Given the description of an element on the screen output the (x, y) to click on. 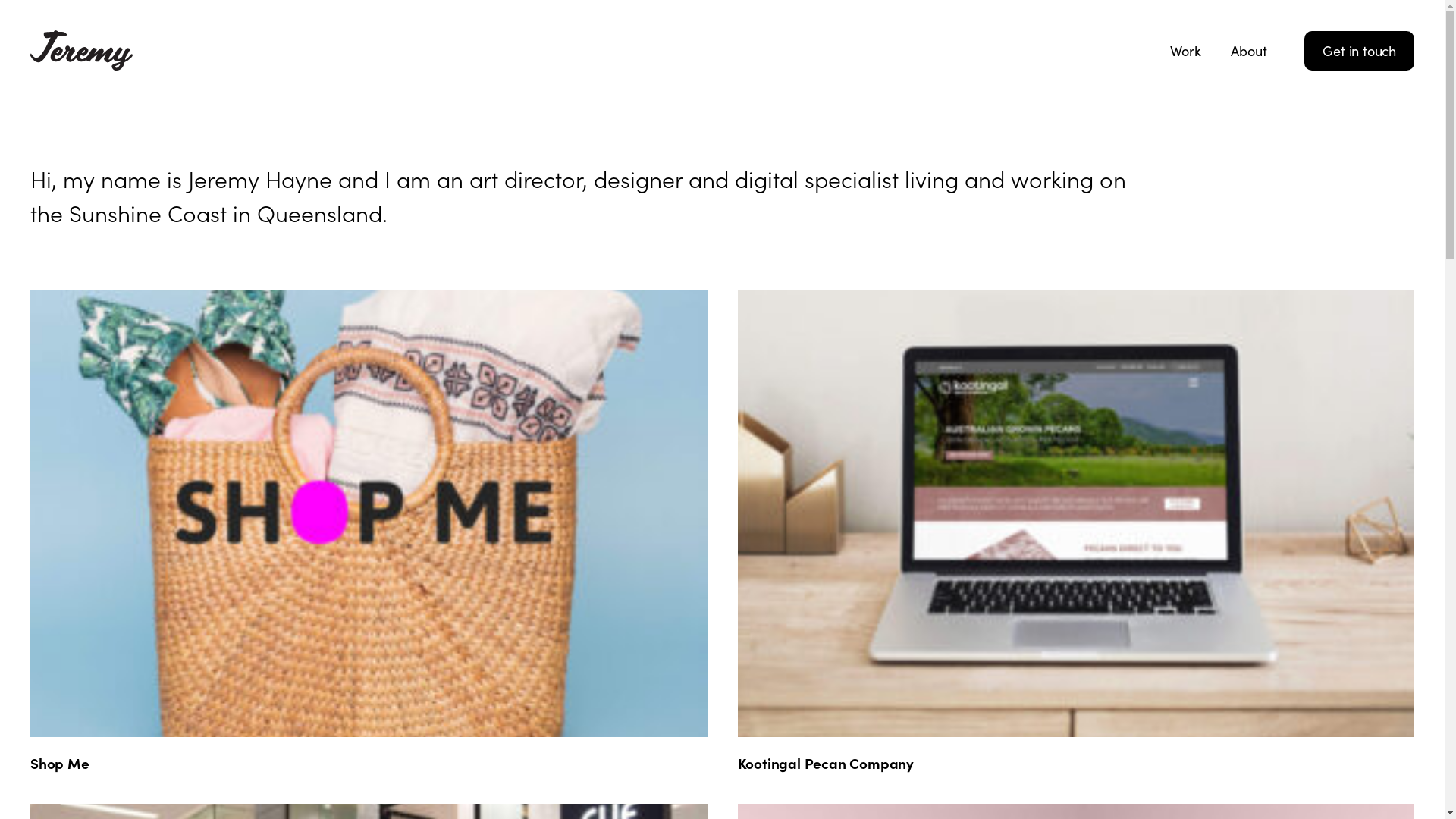
Work Element type: text (1184, 50)
Shop Me Element type: text (59, 762)
Get in touch Element type: text (1359, 50)
Kootingal Pecan Company Element type: text (825, 762)
About Element type: text (1248, 50)
